Given the description of an element on the screen output the (x, y) to click on. 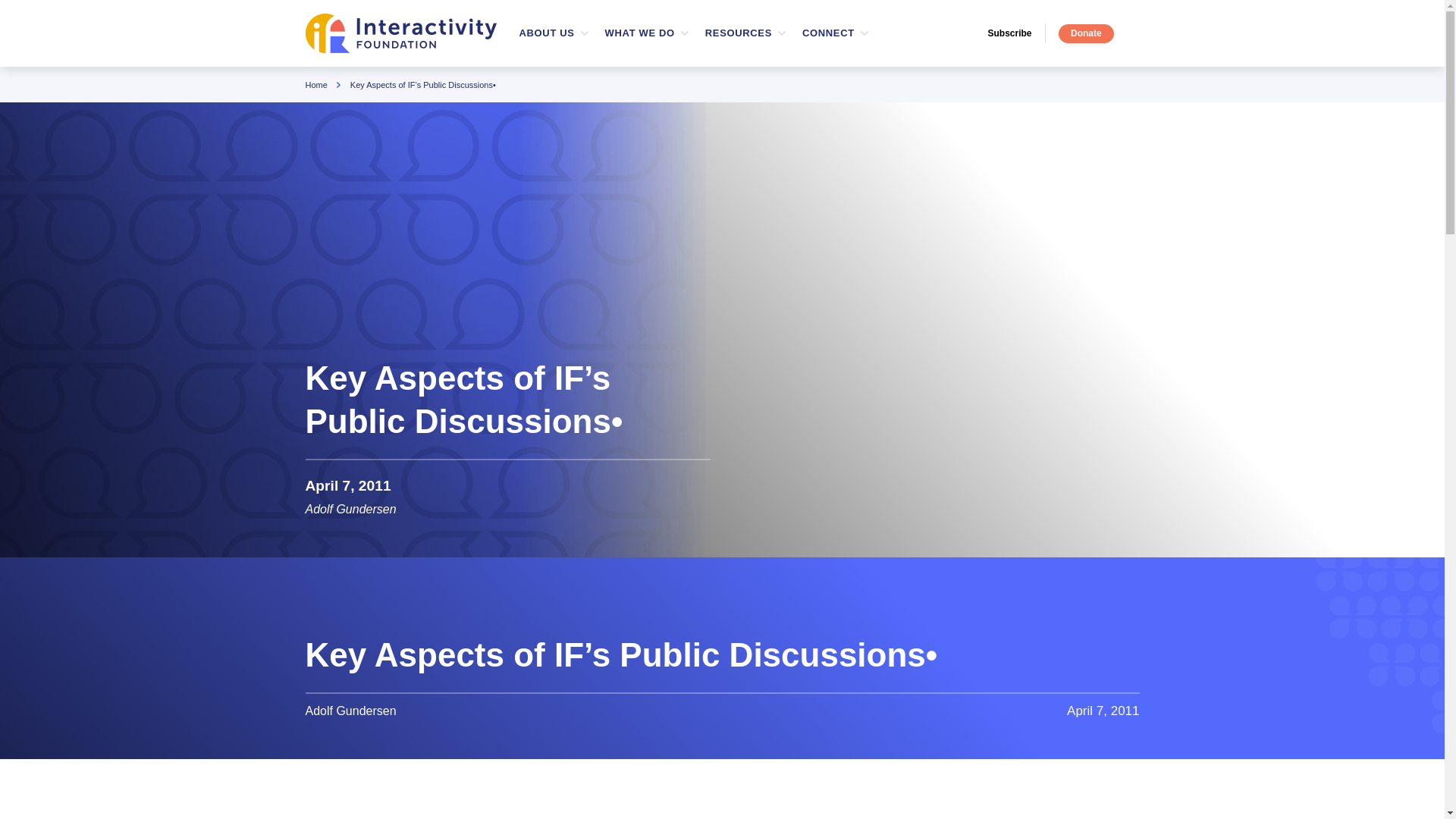
Donate (722, 33)
Go to Interactivity Foundation. (1086, 33)
ABOUT US (315, 84)
Subscribe (545, 33)
CONNECT (1016, 33)
WHAT WE DO (828, 33)
RESOURCES (640, 33)
